Given the description of an element on the screen output the (x, y) to click on. 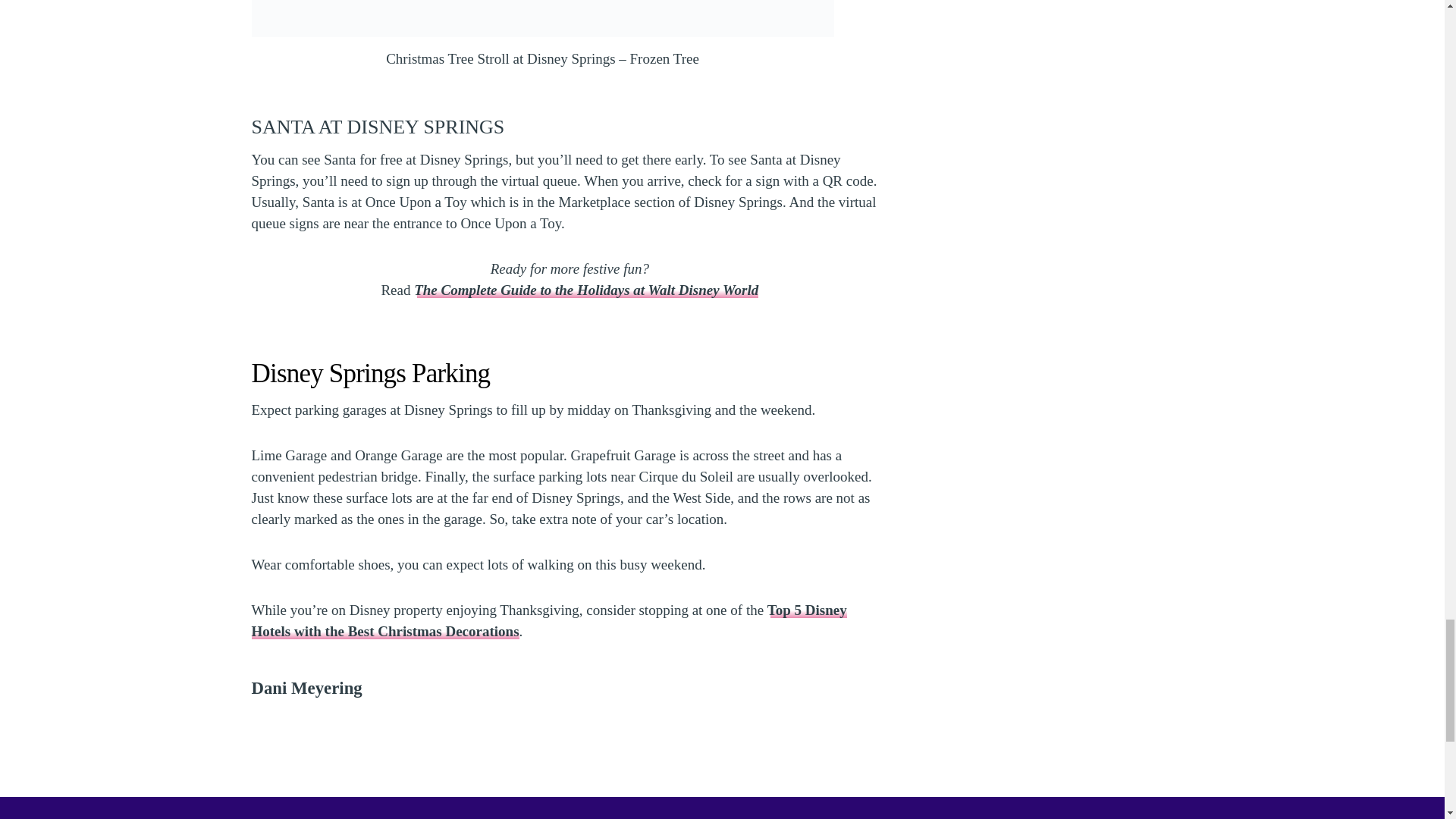
The Complete Guide to the Holidays at Walt Disney World (585, 289)
Posts by Dani Meyering (306, 687)
Dani Meyering (306, 687)
Top 5 Disney Hotels with the Best Christmas Decorations (549, 620)
